Given the description of an element on the screen output the (x, y) to click on. 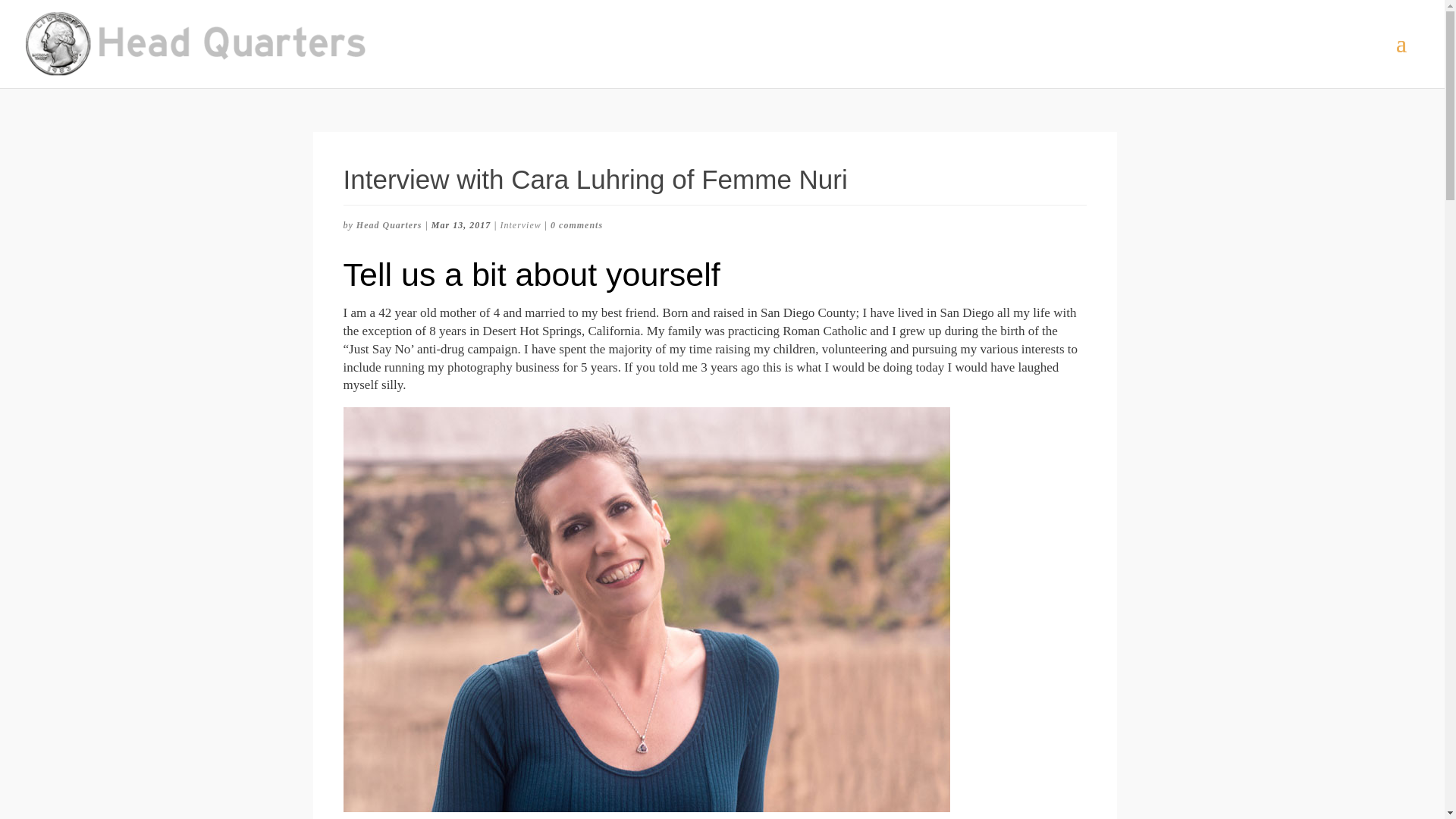
Interview (519, 225)
Posts by Head Quarters (389, 225)
0 comments (576, 225)
Head Quarters (389, 225)
